Given the description of an element on the screen output the (x, y) to click on. 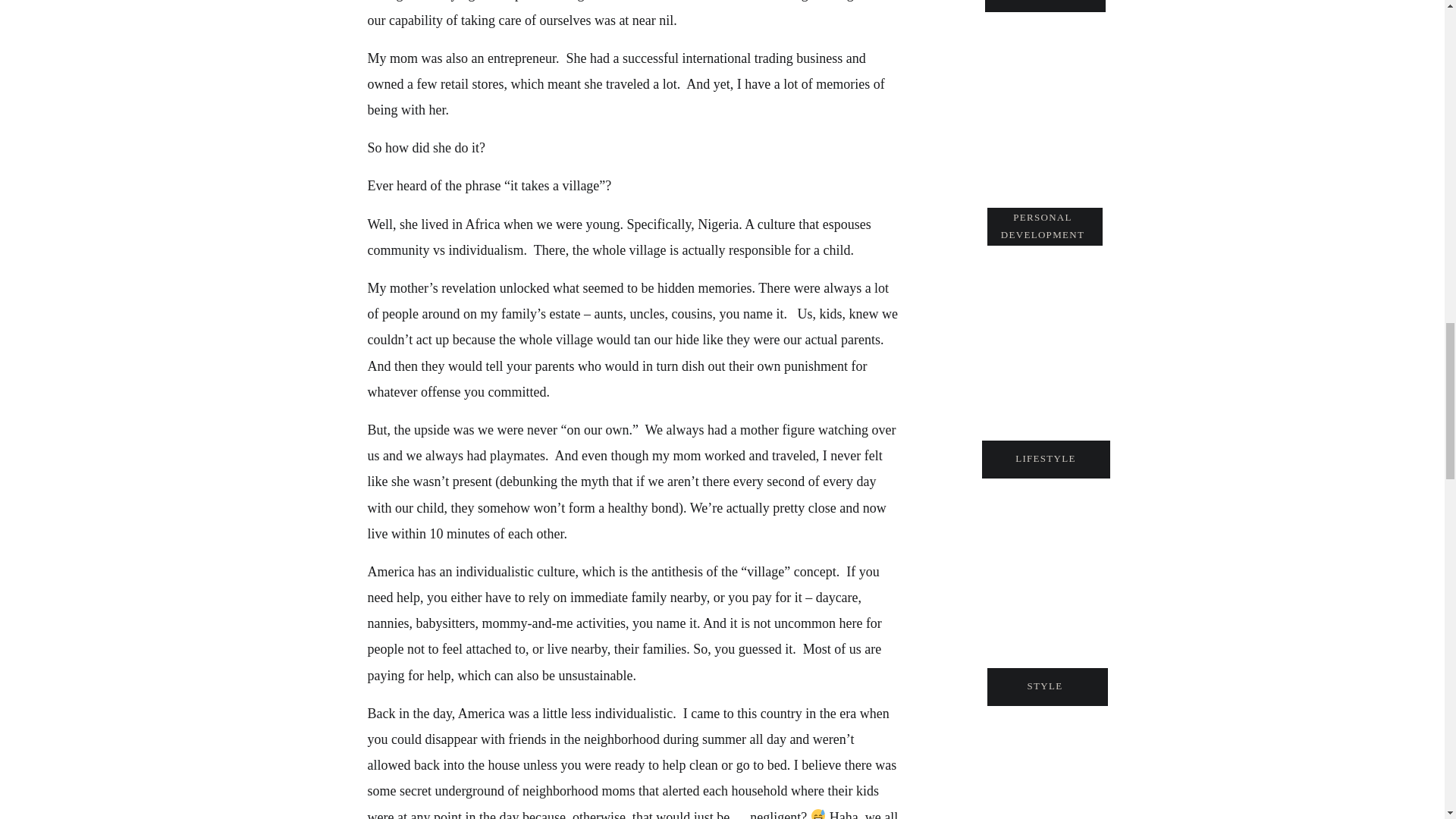
PERSONAL DEVELOPMENT (1041, 224)
STYLE (1045, 688)
LIFESTYLE (1045, 460)
